Given the description of an element on the screen output the (x, y) to click on. 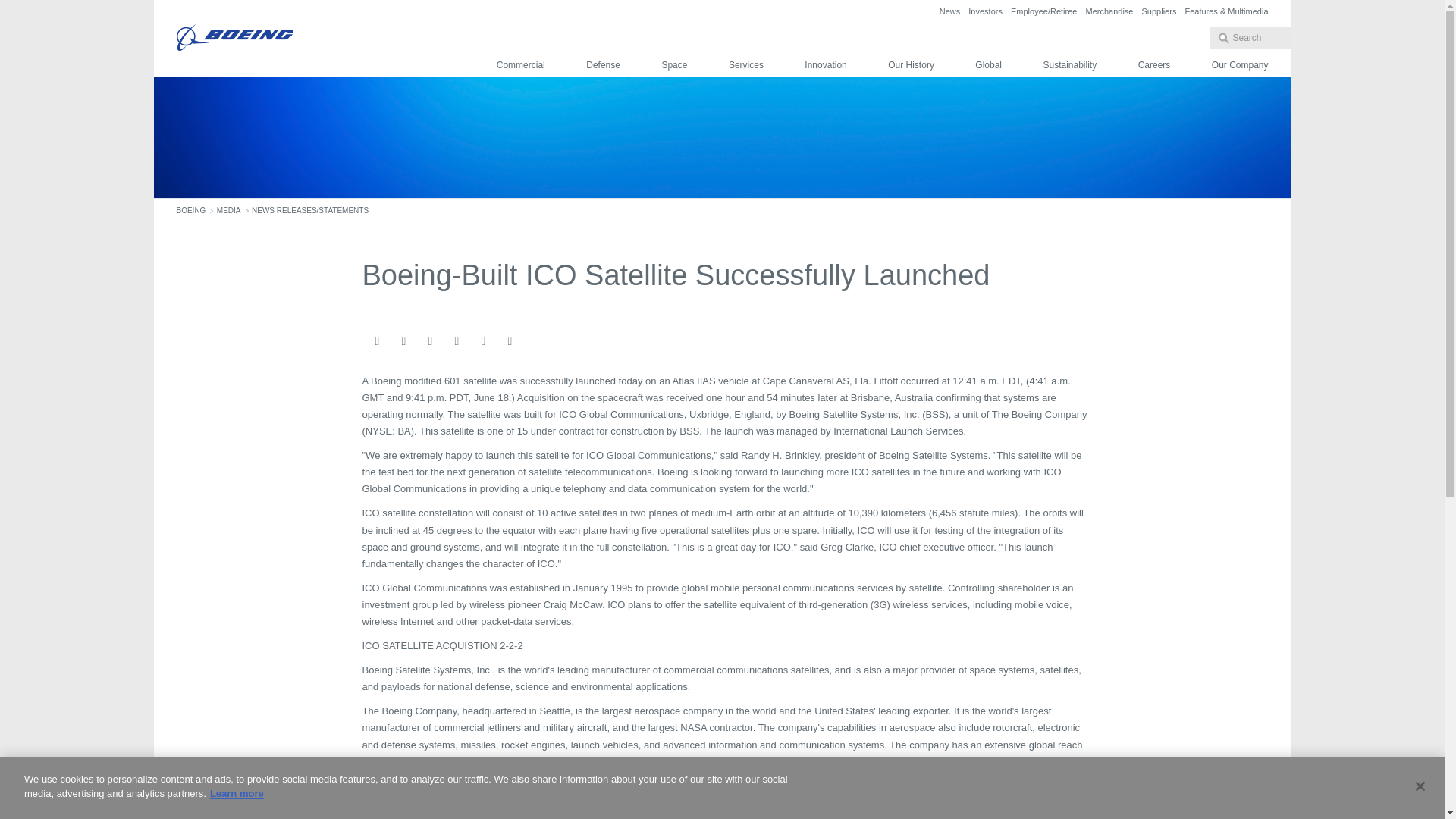
email (376, 341)
Suppliers (1158, 10)
Boeing (234, 37)
Investors (985, 10)
Merchandise (1108, 10)
News (949, 10)
rss (510, 341)
pdf (535, 341)
Defense (603, 65)
Twitter Share (456, 341)
Linkedin Share (430, 341)
Commercial (520, 65)
print (483, 341)
Facebook Share (403, 341)
